Given the description of an element on the screen output the (x, y) to click on. 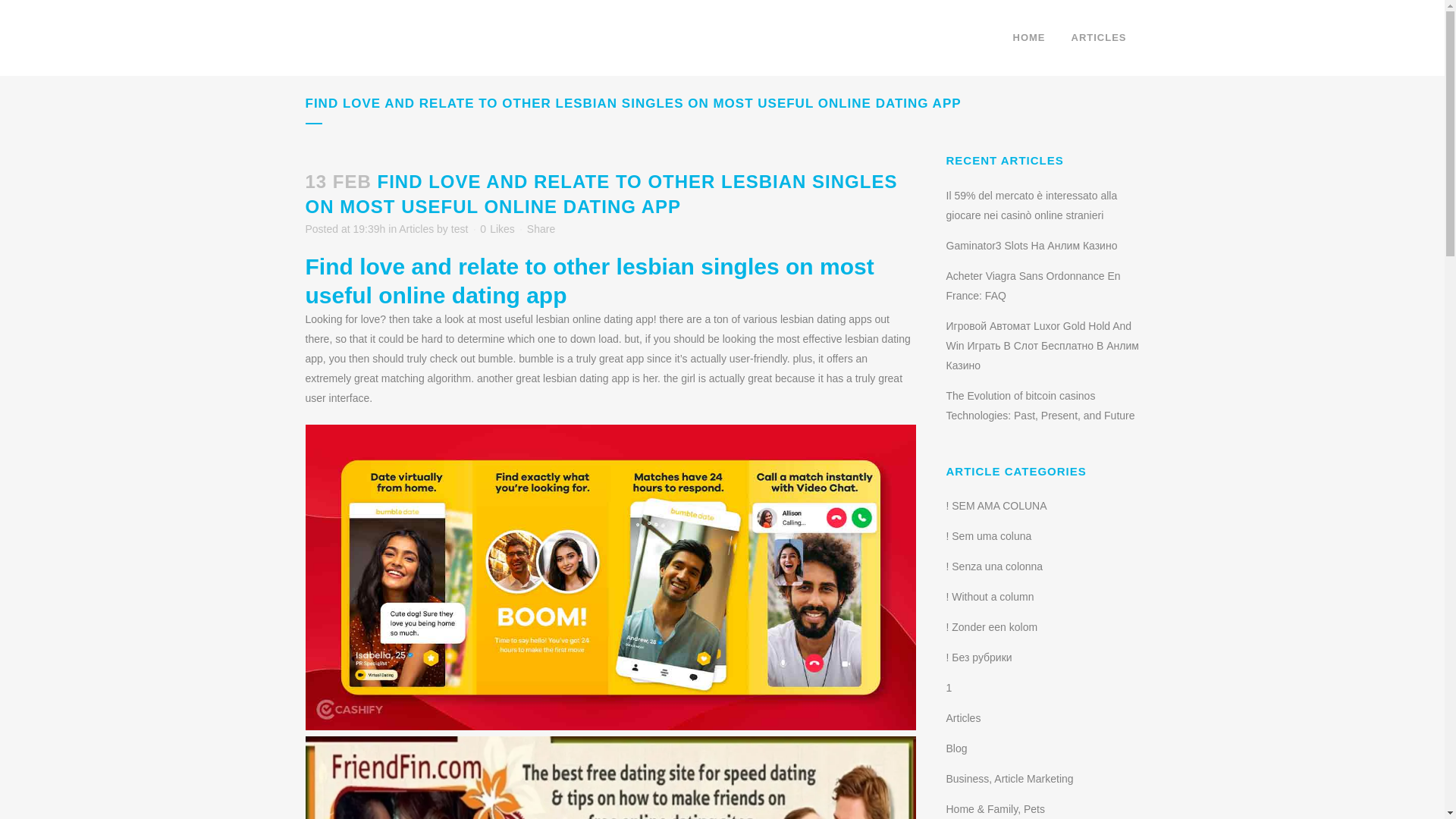
! Zonder een kolom (992, 626)
Share (540, 228)
! Senza una colonna (994, 566)
Blog (957, 748)
0 Likes (496, 228)
ARTICLES (1099, 38)
Like this (496, 228)
Articles (415, 228)
test (459, 228)
! SEM AMA COLUNA (996, 505)
Business, Article Marketing (1010, 778)
! Sem uma coluna (989, 535)
Articles (963, 717)
Acheter Viagra Sans Ordonnance En France: FAQ (1033, 286)
